Given the description of an element on the screen output the (x, y) to click on. 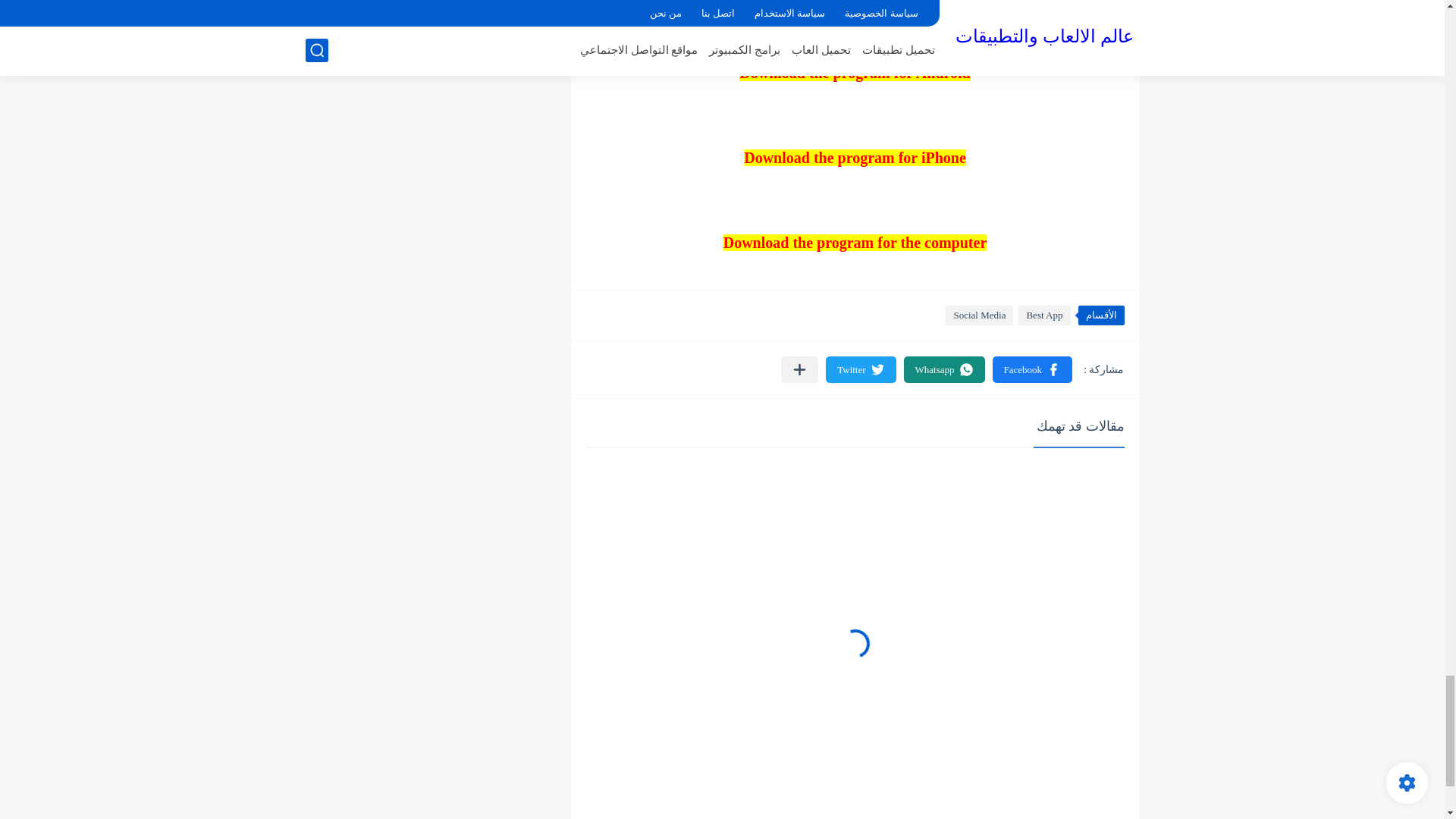
Best App (1043, 315)
Social Media (978, 315)
Best App (1043, 315)
Download the program for iPhone (855, 158)
Download the program for Android (854, 73)
Download the program for the computer (855, 242)
Social Media (978, 315)
